Given the description of an element on the screen output the (x, y) to click on. 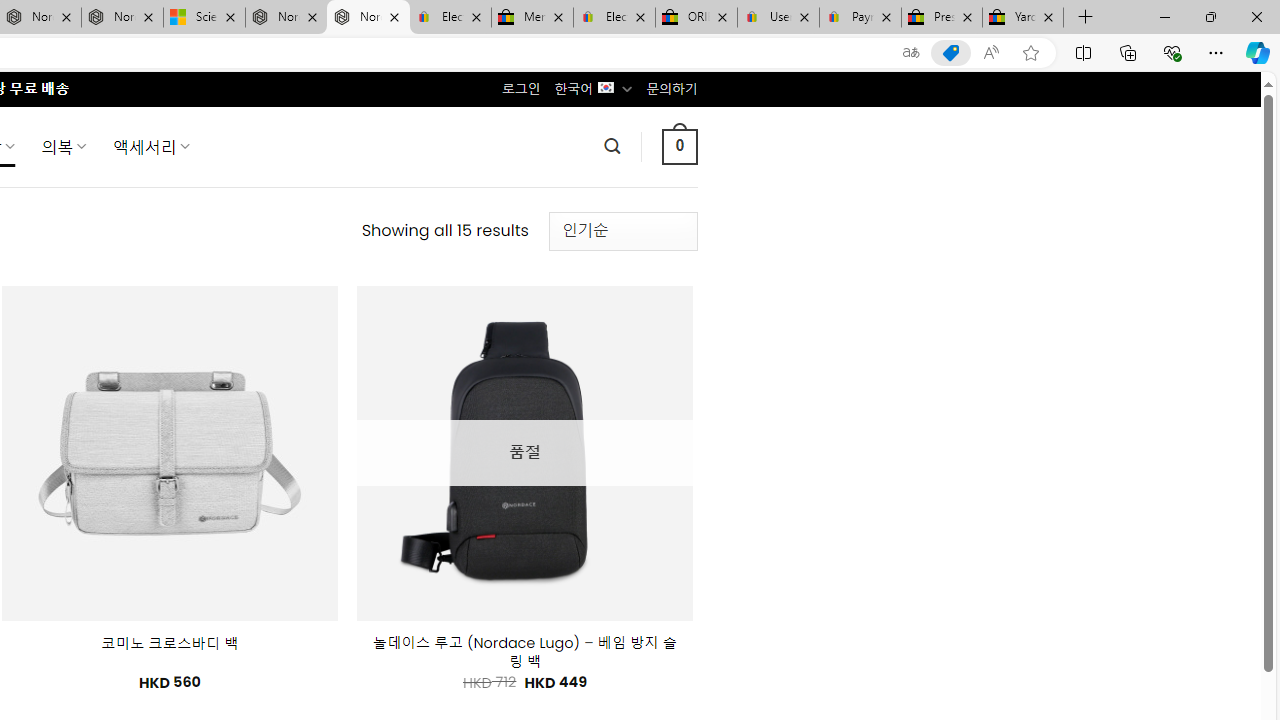
Yard, Garden & Outdoor Living (1023, 17)
